Given the description of an element on the screen output the (x, y) to click on. 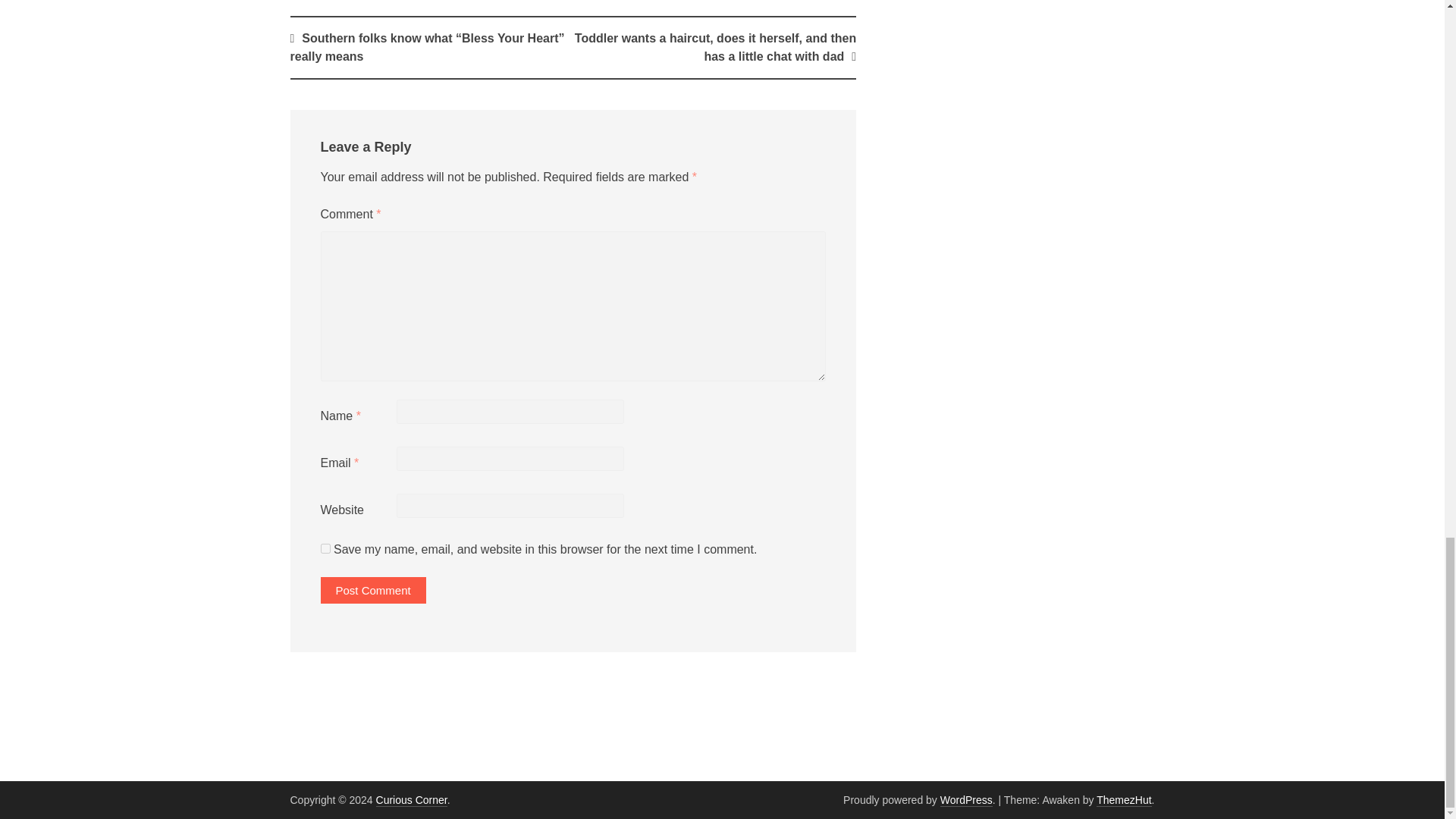
Curious Corner (410, 799)
Curious Corner (410, 799)
yes (325, 548)
Post Comment (372, 590)
WordPress (966, 799)
Post Comment (372, 590)
